Given the description of an element on the screen output the (x, y) to click on. 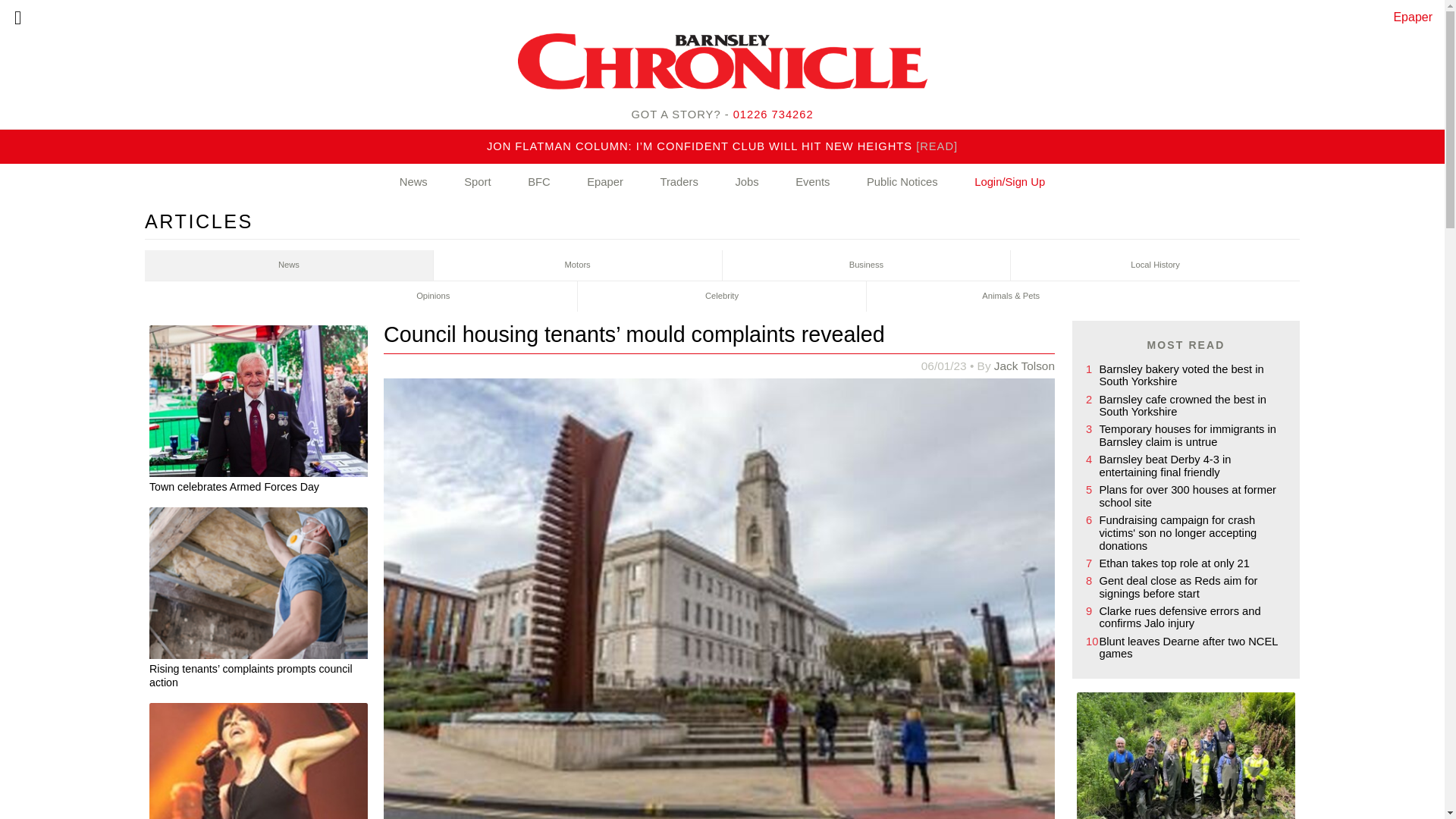
01226 734262 (773, 114)
Public Notices (902, 182)
News (413, 182)
Sport (477, 182)
Business (866, 265)
News (288, 265)
Motors (577, 265)
Events (812, 182)
Jobs (745, 182)
Epaper (604, 182)
Local History (1155, 265)
Epaper (1412, 16)
Opinions (433, 296)
BFC (539, 182)
Traders (678, 182)
